Given the description of an element on the screen output the (x, y) to click on. 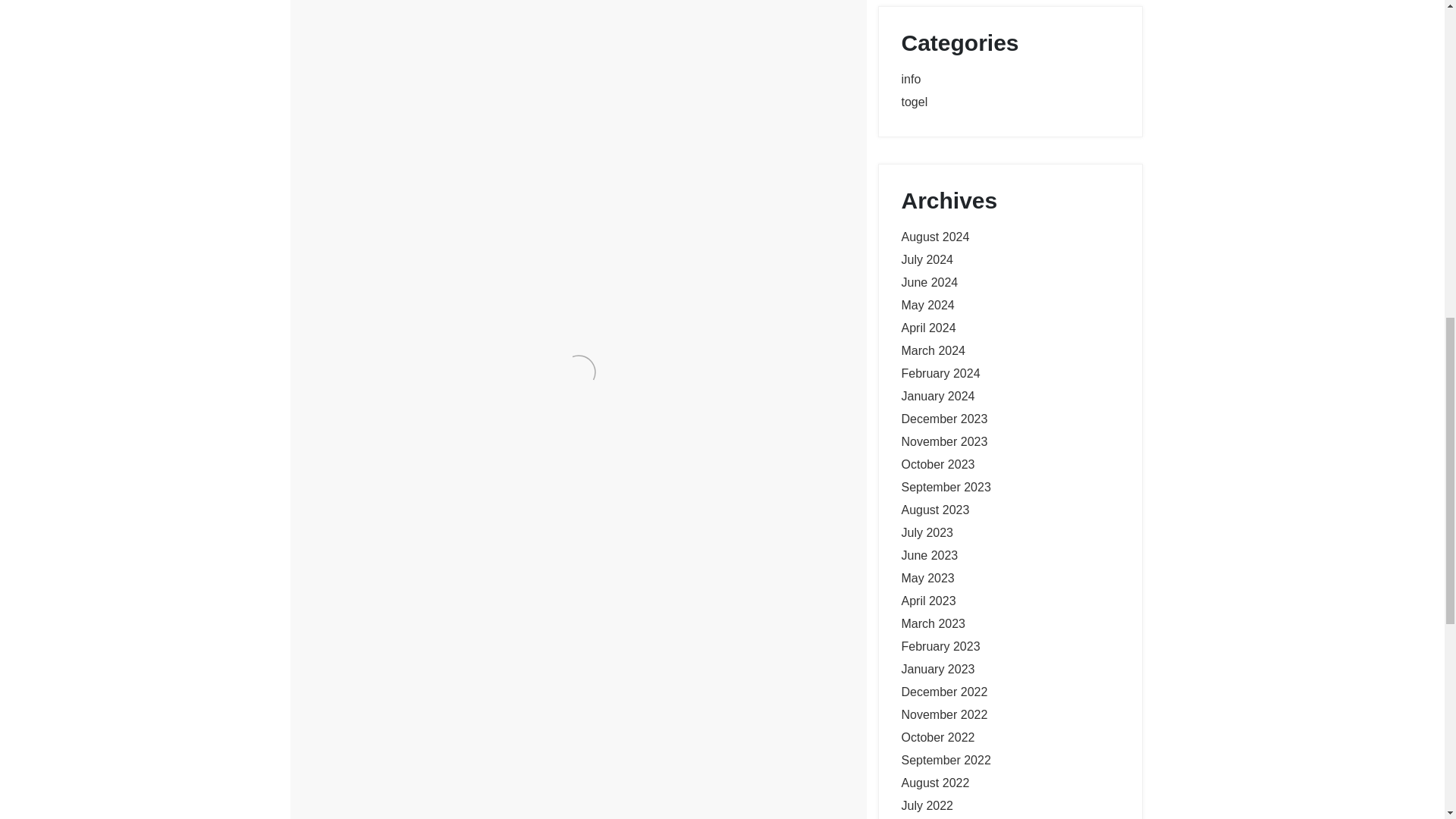
September 2023 (945, 486)
March 2023 (933, 623)
November 2023 (944, 440)
April 2023 (928, 600)
December 2023 (944, 418)
January 2024 (937, 395)
June 2024 (929, 282)
February 2024 (940, 373)
July 2024 (927, 259)
June 2023 (929, 554)
